Given the description of an element on the screen output the (x, y) to click on. 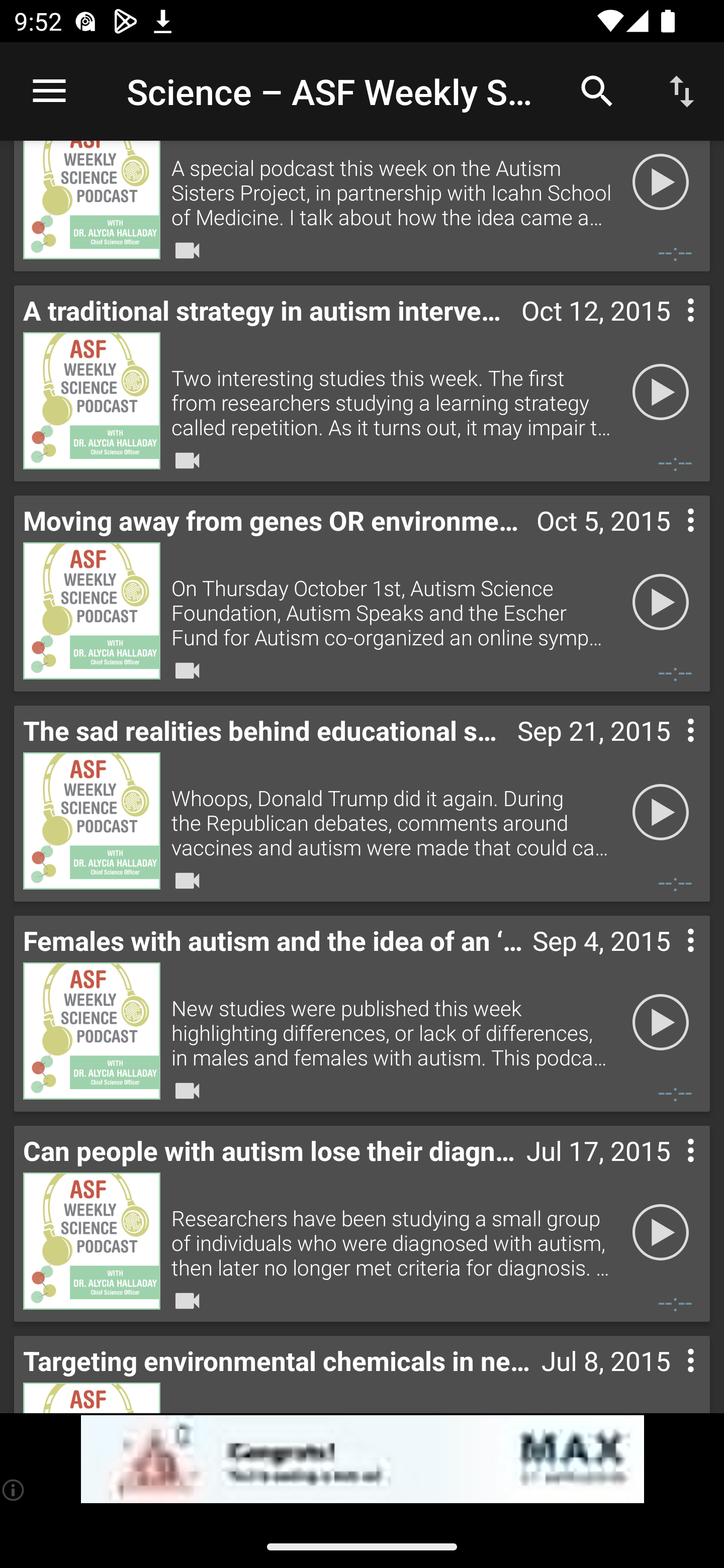
Open navigation sidebar (49, 91)
Search (597, 90)
Sort (681, 90)
Play (660, 185)
Contextual menu (668, 329)
Play (660, 391)
Contextual menu (668, 539)
Play (660, 601)
Contextual menu (668, 749)
Play (660, 811)
Contextual menu (668, 959)
Play (660, 1021)
Contextual menu (668, 1170)
Play (660, 1231)
Contextual menu (668, 1375)
app-monetization (362, 1459)
(i) (14, 1489)
